Given the description of an element on the screen output the (x, y) to click on. 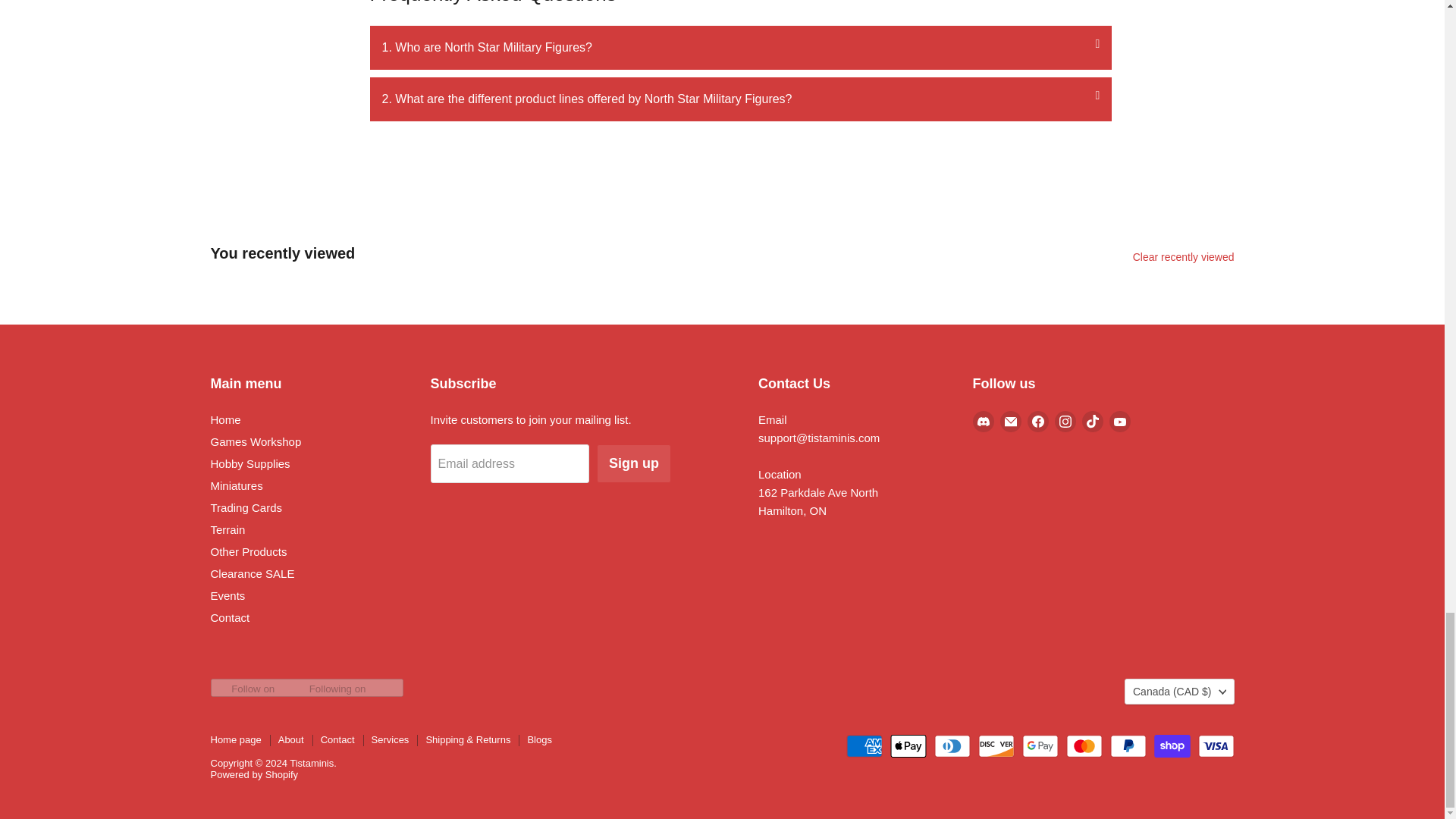
TikTok (1091, 421)
Discord (982, 421)
Instagram (1064, 421)
Facebook (1037, 421)
Email (1009, 421)
